Given the description of an element on the screen output the (x, y) to click on. 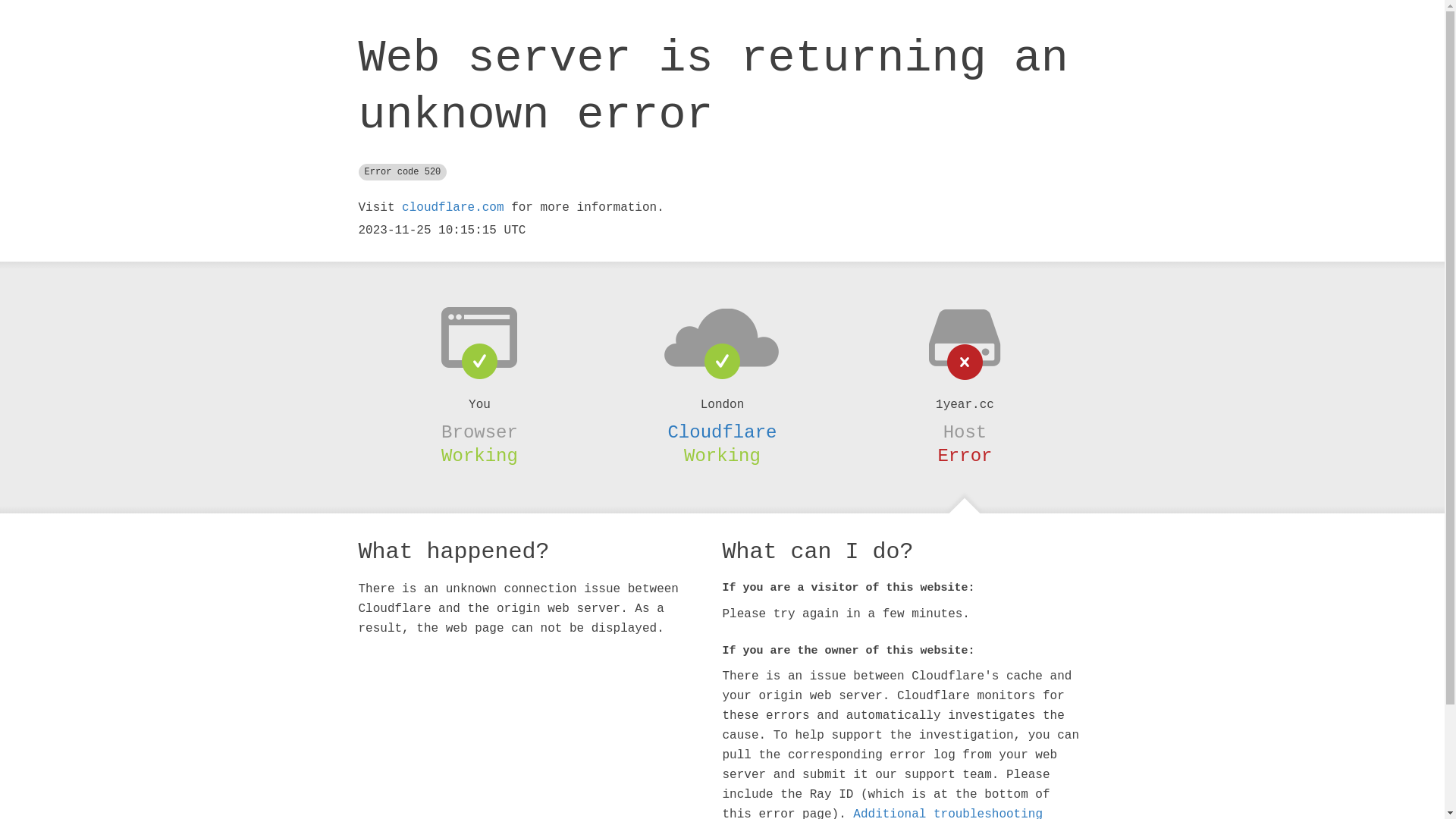
cloudflare.com Element type: text (452, 207)
Cloudflare Element type: text (721, 432)
